Given the description of an element on the screen output the (x, y) to click on. 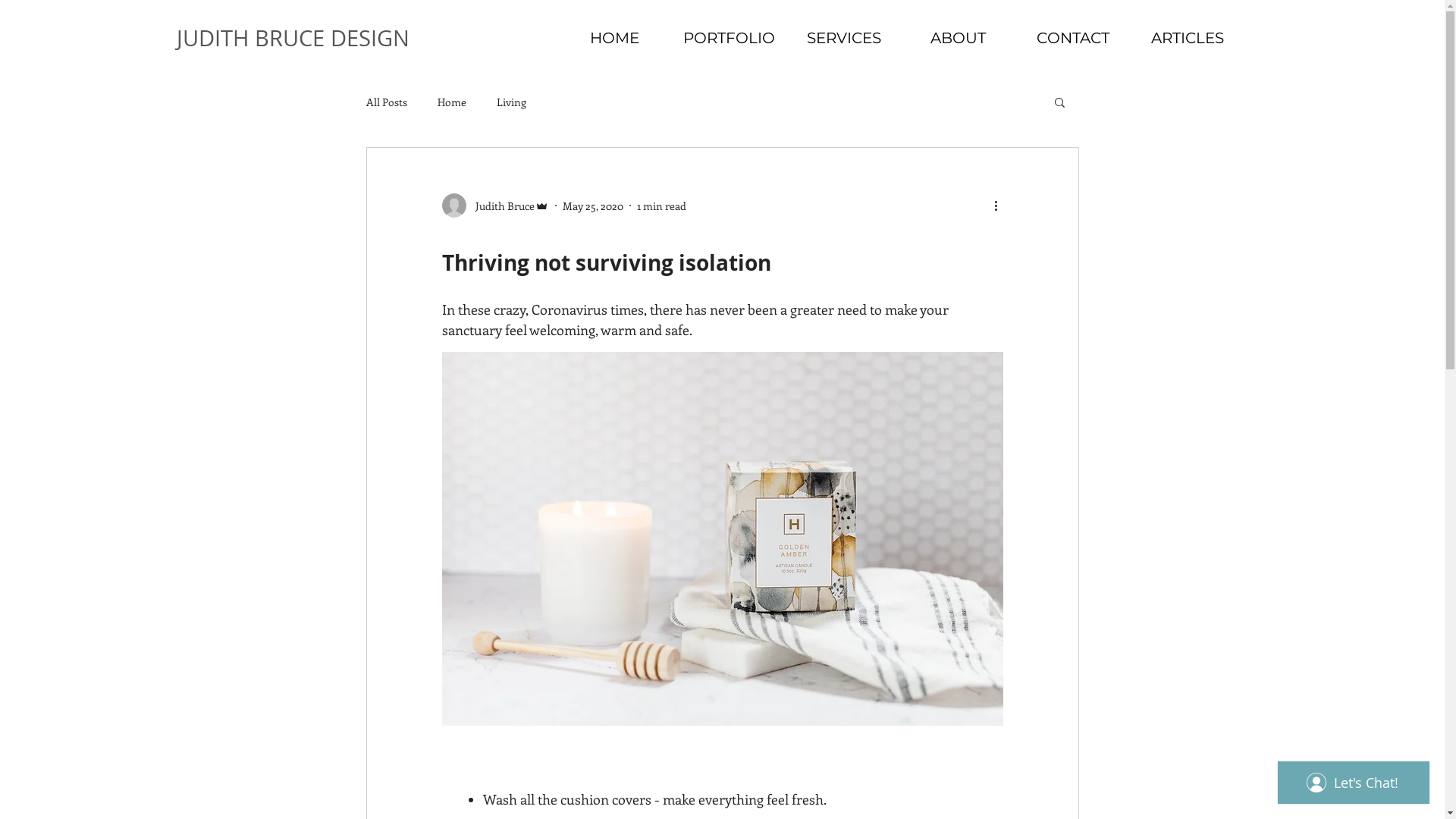
Home Element type: text (450, 101)
All Posts Element type: text (385, 101)
Living Element type: text (510, 101)
ABOUT Element type: text (957, 37)
HOME Element type: text (614, 37)
PORTFOLIO Element type: text (728, 37)
CONTACT Element type: text (1072, 37)
SERVICES Element type: text (843, 37)
ARTICLES Element type: text (1186, 37)
Judith Bruce Element type: text (494, 205)
